Given the description of an element on the screen output the (x, y) to click on. 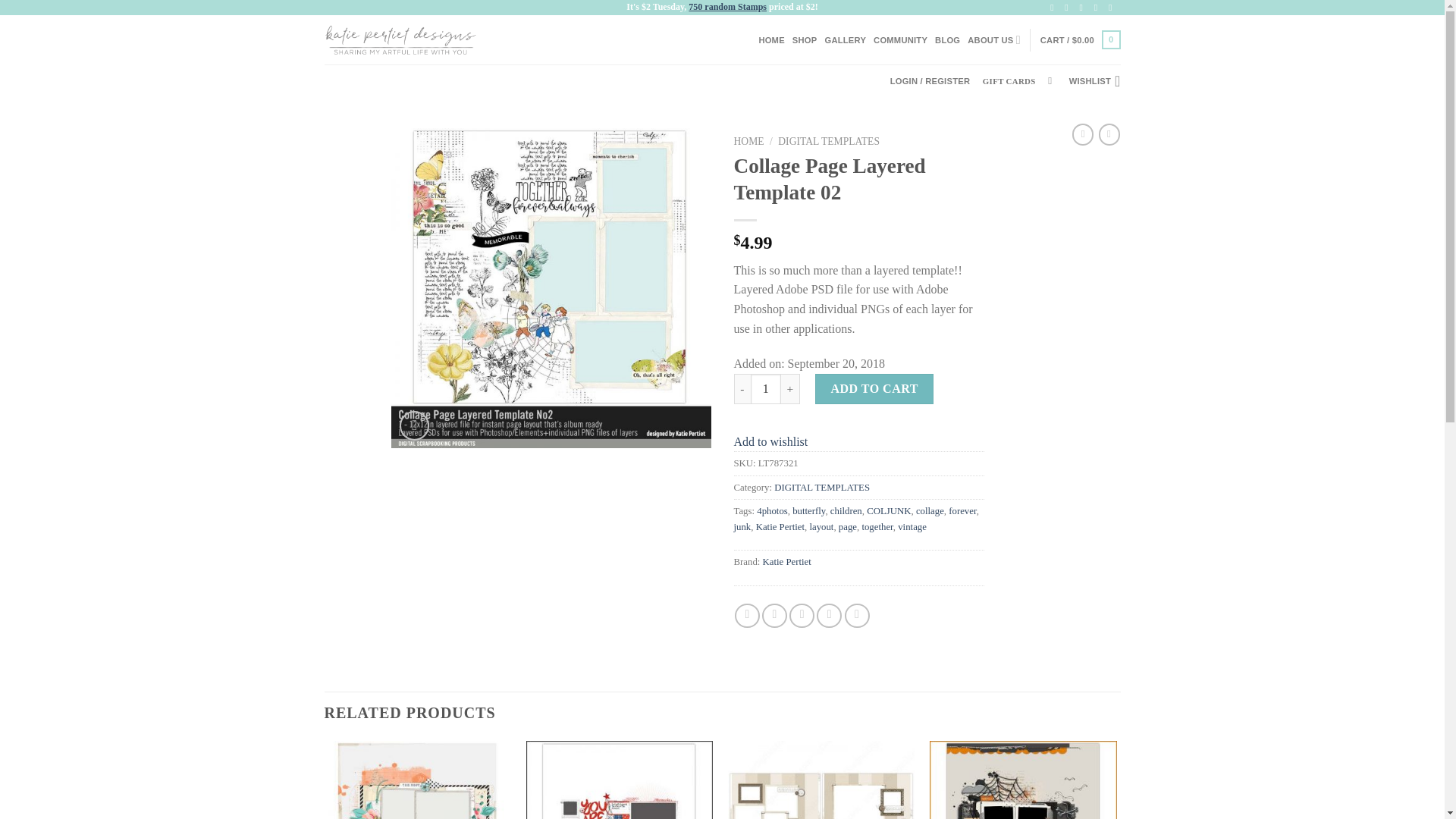
HOME (748, 141)
1 (765, 388)
Share on Facebook (747, 615)
WISHLIST (1094, 80)
GALLERY (845, 39)
HOME (771, 39)
Cart (1081, 39)
SHOP (804, 39)
Zoom (413, 425)
DIGITAL TEMPLATES (828, 141)
